Given the description of an element on the screen output the (x, y) to click on. 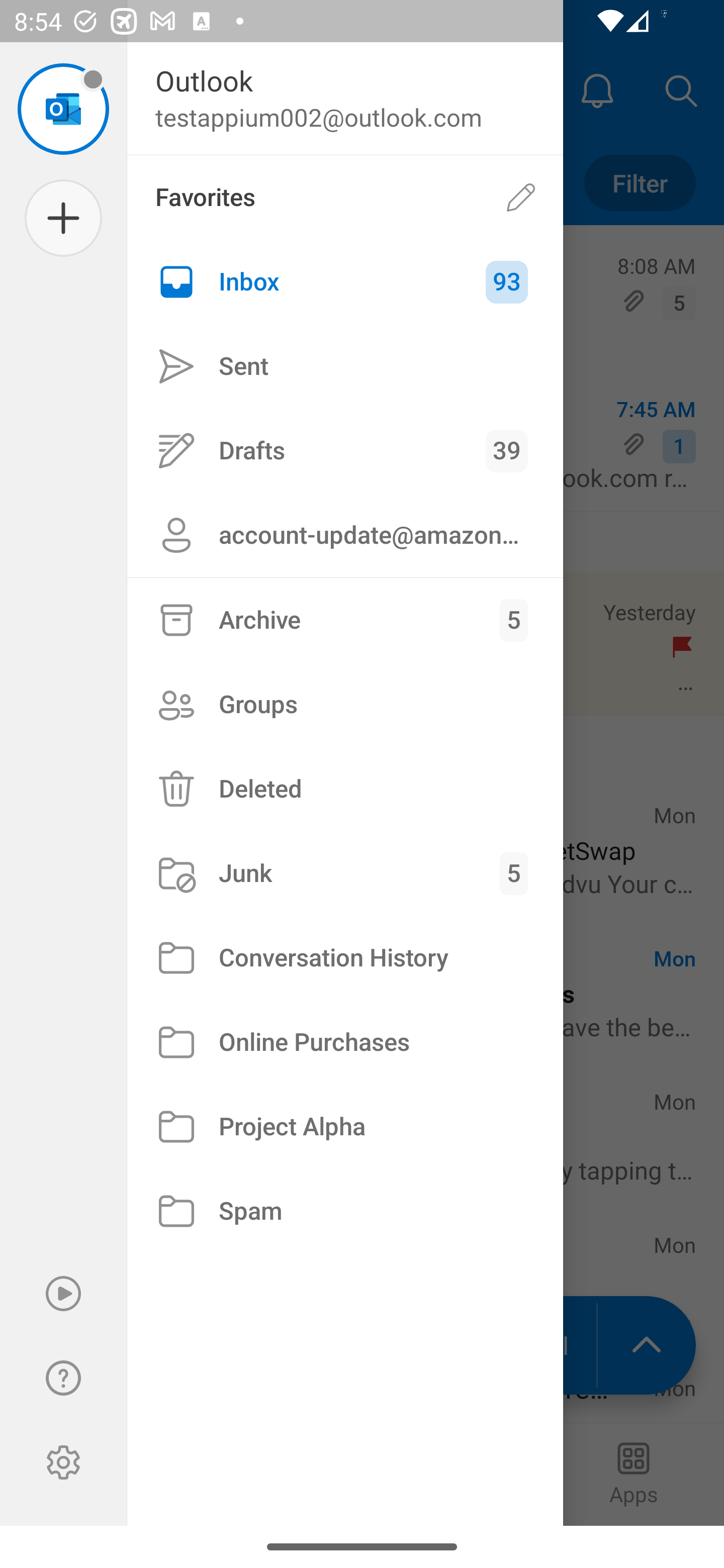
Edit favorites (520, 197)
Add account (63, 217)
Inbox Inbox, 93 unread emails,Selected (345, 281)
Sent (345, 366)
Drafts Drafts, 39 unread emails (345, 450)
account-update@amazon.com (345, 534)
Archive Archive, 2 of 9, level 1, 5 unread emails (345, 619)
Groups Groups, 3 of 9, level 1 (345, 703)
Deleted Deleted, 4 of 9, level 1 (345, 788)
Junk Junk, 5 of 9, level 1, 5 unread emails (345, 873)
Online Purchases Online Purchases, 7 of 9, level 1 (345, 1042)
Project Alpha Project Alpha, 8 of 9, level 1 (345, 1127)
Spam Spam, 9 of 9, level 1 (345, 1210)
Play My Emails (62, 1293)
Help (62, 1377)
Settings (62, 1462)
